Given the description of an element on the screen output the (x, y) to click on. 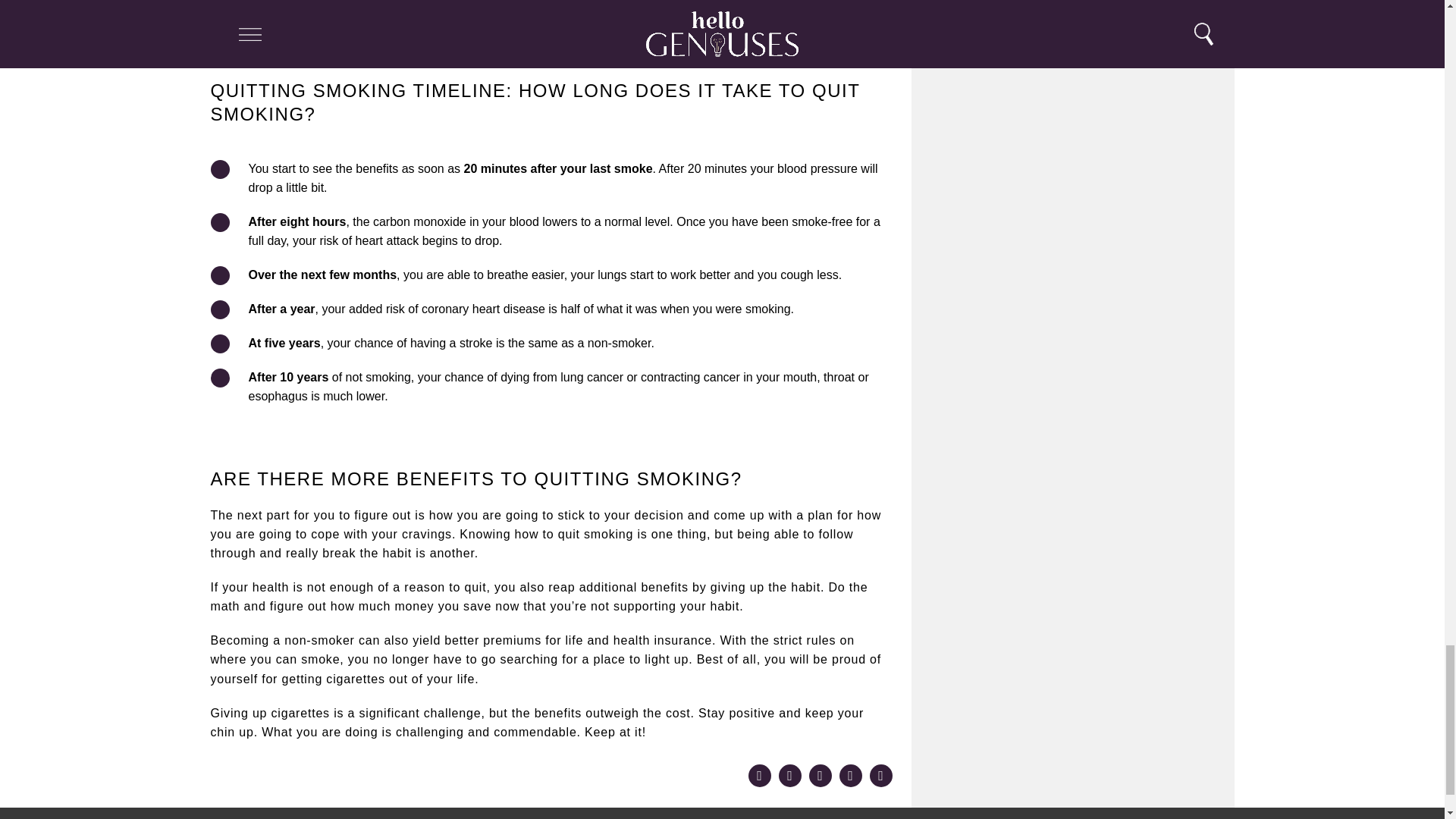
Bookmark (880, 775)
Pinterest (759, 775)
Email (849, 775)
Facebook (788, 775)
Twitter (819, 775)
